Given the description of an element on the screen output the (x, y) to click on. 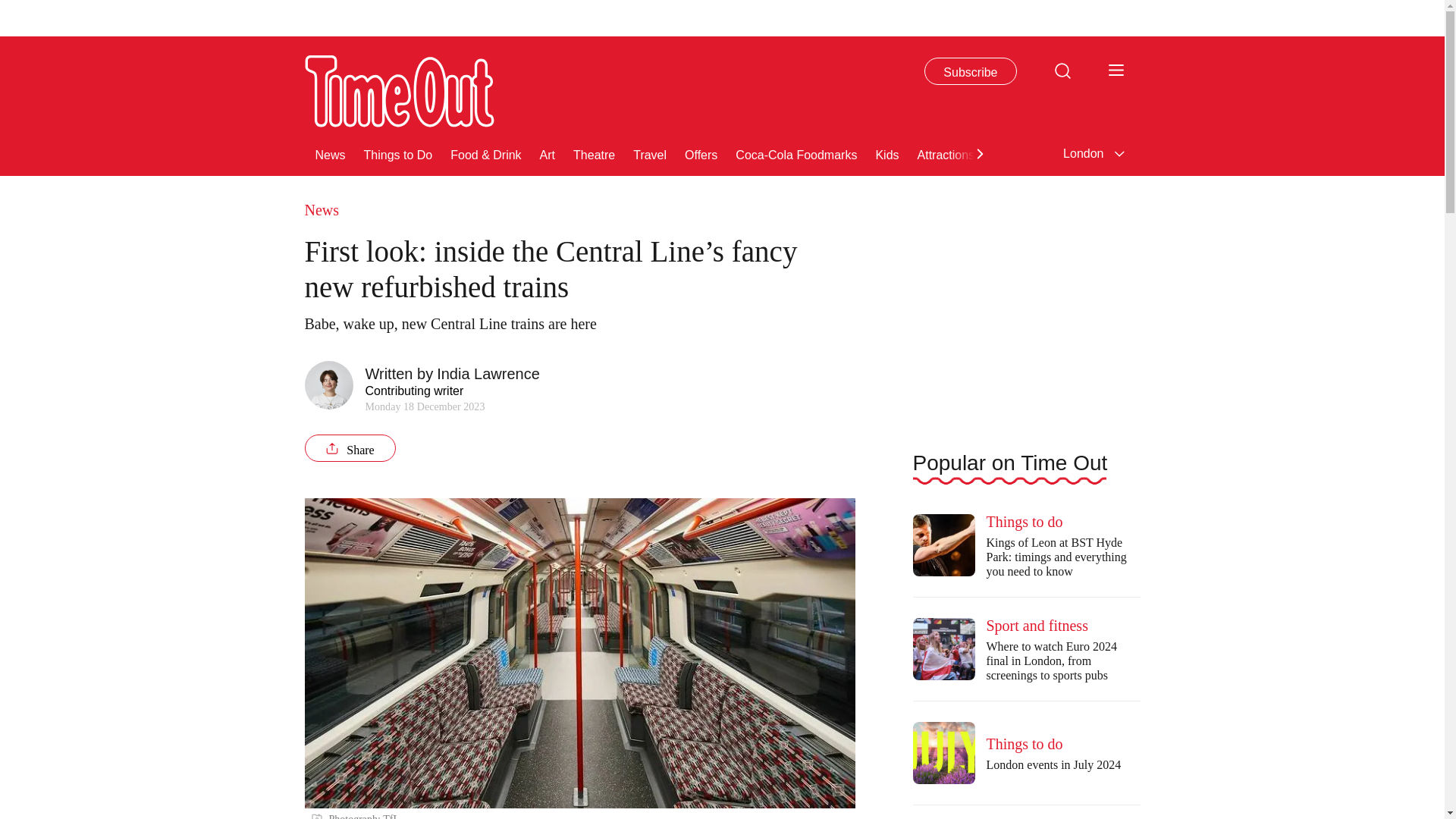
Travel (649, 153)
Nightlife (1176, 153)
Go to the content (10, 7)
Search (1061, 69)
Museums (1018, 153)
Hotels (1233, 153)
Coca-Cola Foodmarks (796, 153)
Offers (700, 153)
Attractions (945, 153)
